Given the description of an element on the screen output the (x, y) to click on. 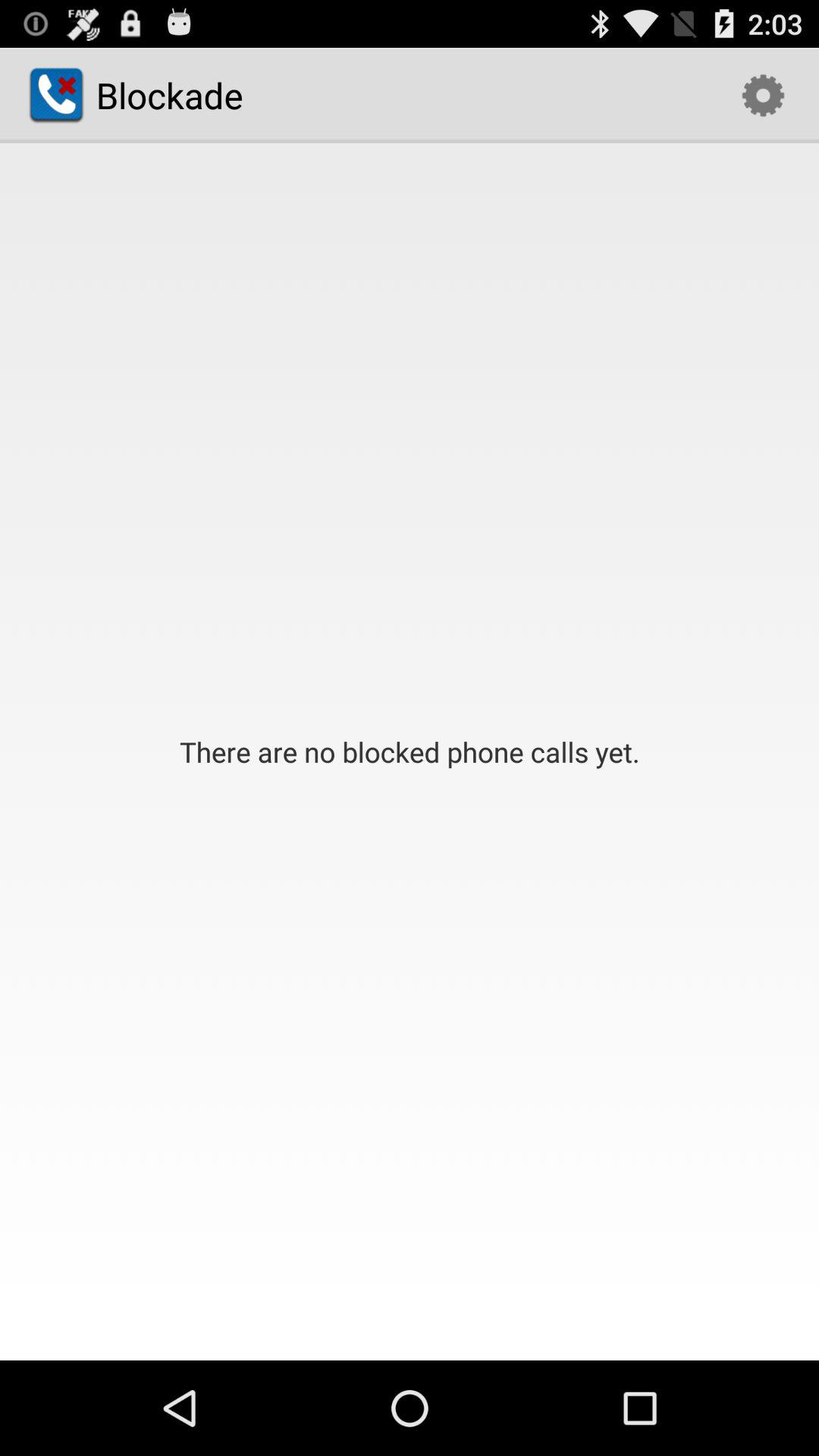
click the icon at the top right corner (763, 95)
